Given the description of an element on the screen output the (x, y) to click on. 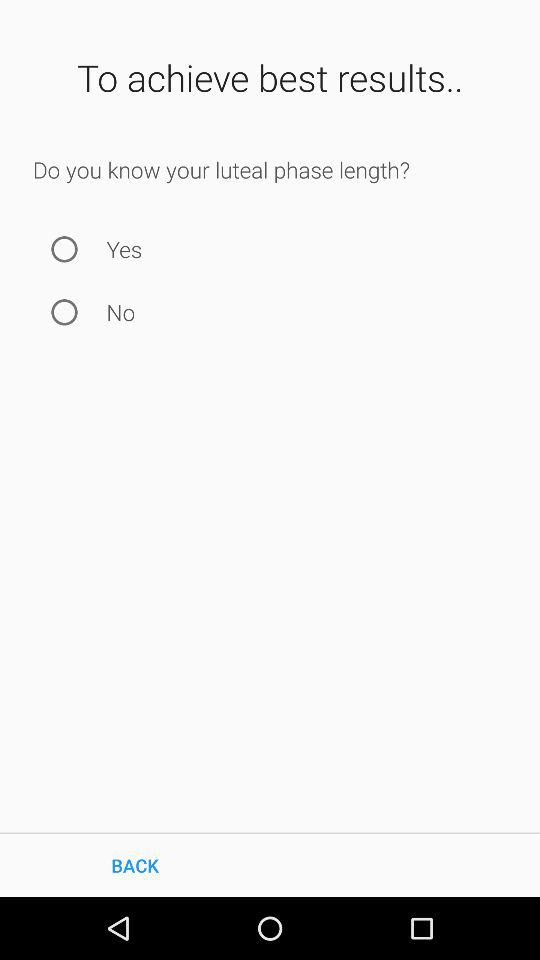
press the icon next to the no (64, 311)
